Given the description of an element on the screen output the (x, y) to click on. 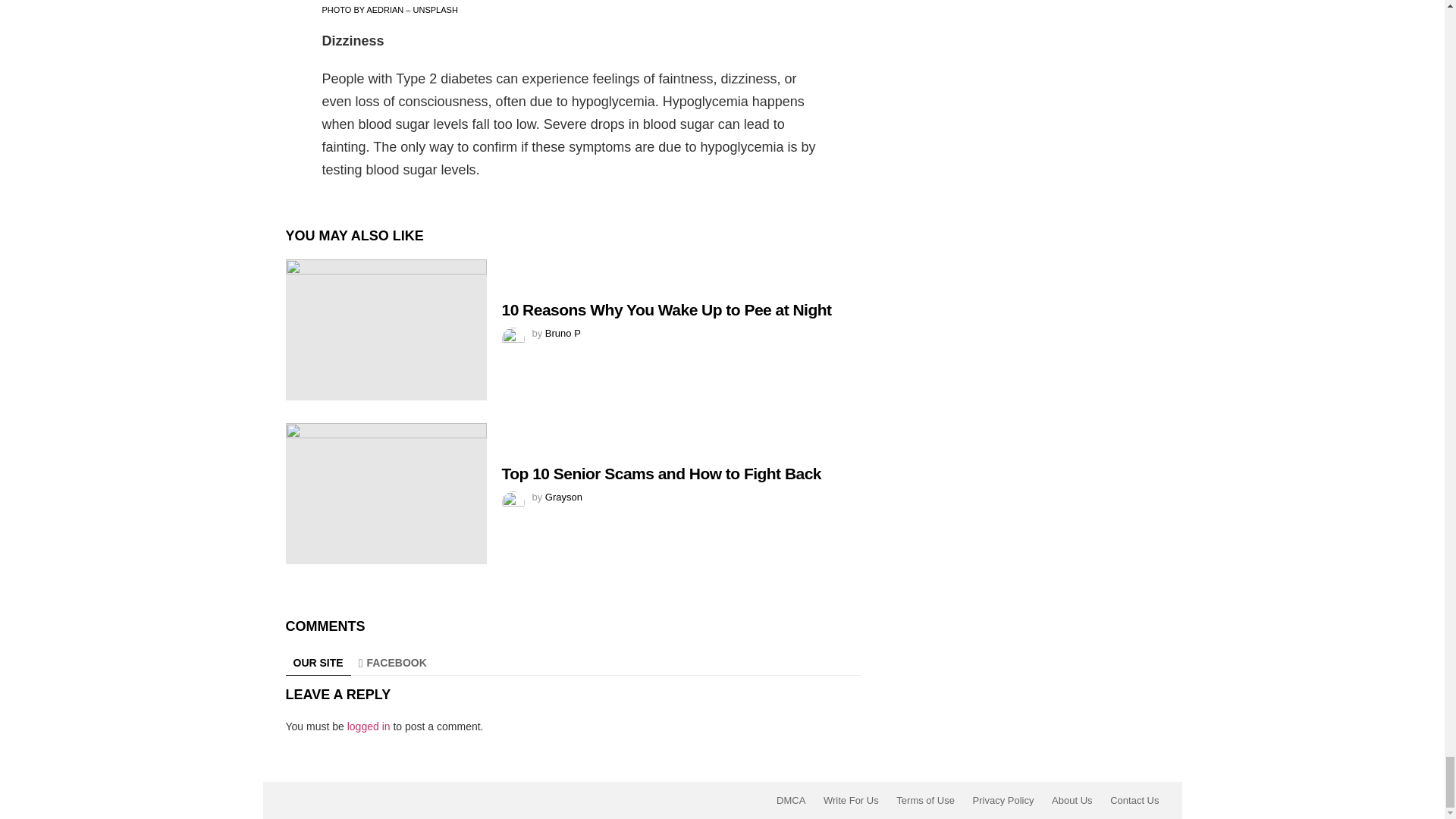
Privacy Policy (1003, 800)
Write For Us (850, 800)
OUR SITE (317, 662)
10 Reasons Why You Wake Up to Pee at Night (385, 329)
Terms of Use (925, 800)
logged in (368, 726)
Contact Us (1134, 800)
Grayson (563, 496)
About Us (1071, 800)
Top 10 Senior Scams and How to Fight Back (662, 473)
